Given the description of an element on the screen output the (x, y) to click on. 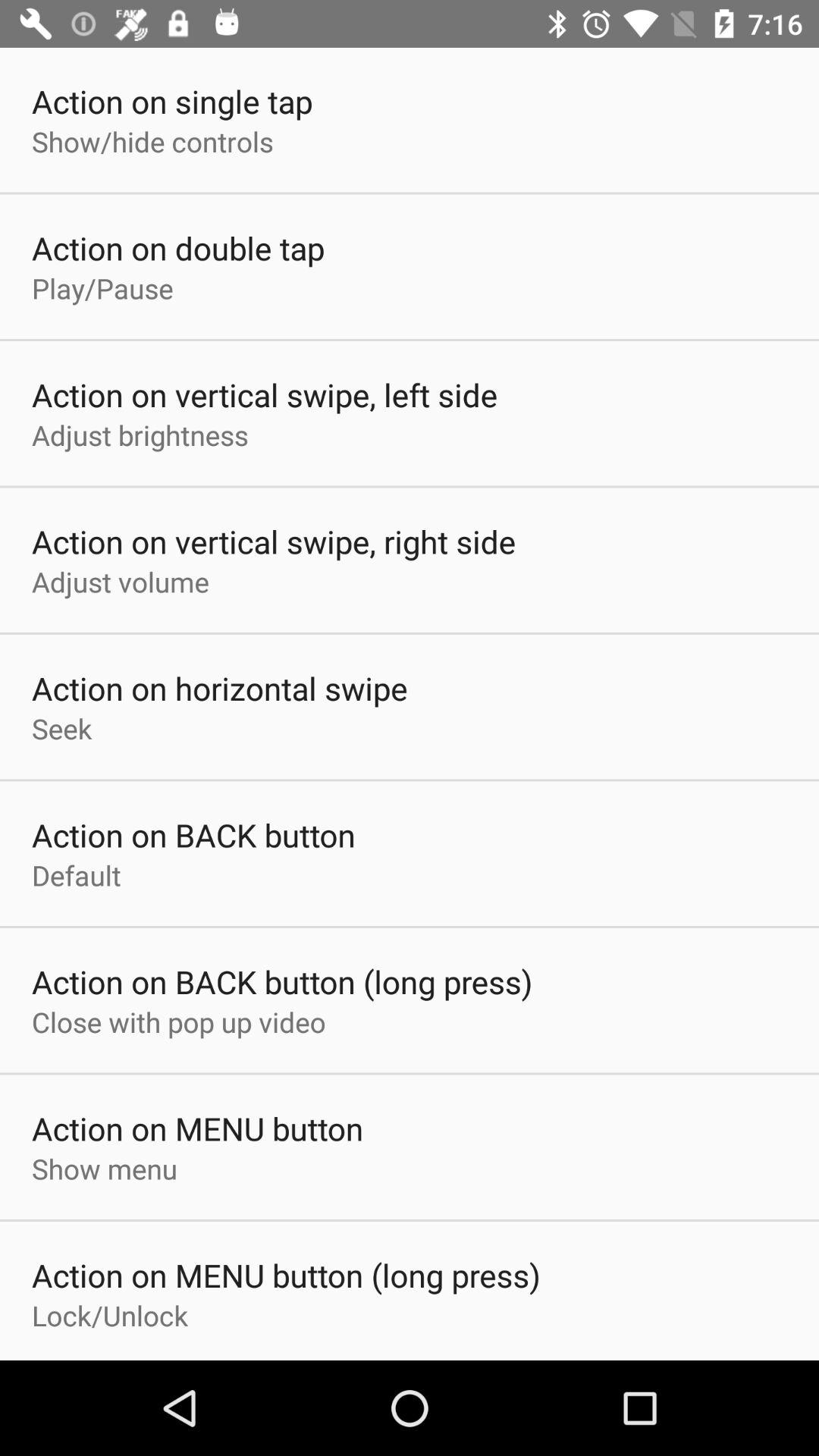
turn on the icon above the action on back app (61, 728)
